Given the description of an element on the screen output the (x, y) to click on. 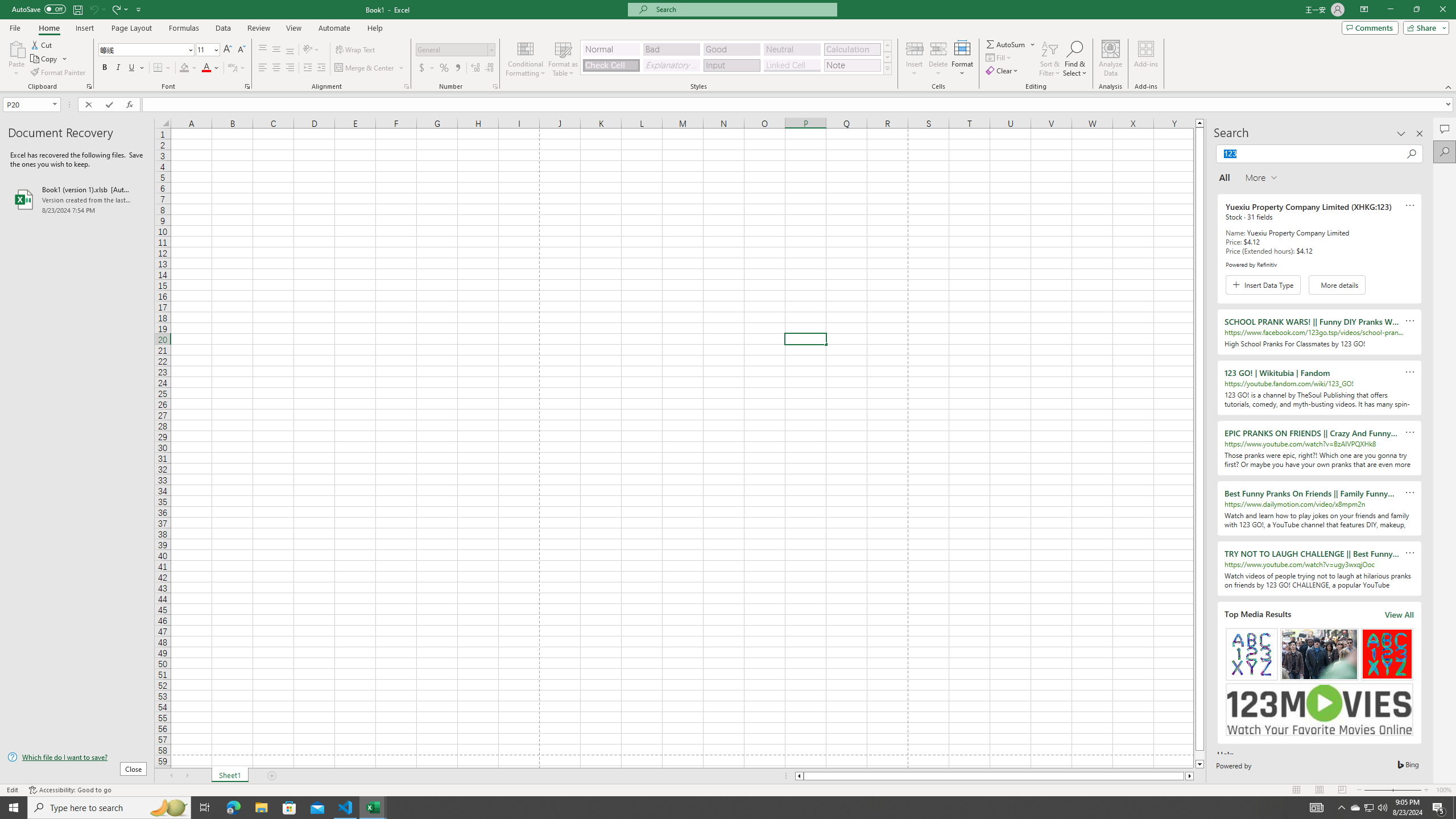
Restore Down (1416, 9)
Sum (1006, 44)
Linked Cell (791, 65)
Cell Styles (887, 68)
Format Cell Alignment (405, 85)
Explanatory Text (671, 65)
Format (962, 58)
Microsoft search (742, 9)
Decrease Font Size (240, 49)
Decrease Decimal (489, 67)
